Given the description of an element on the screen output the (x, y) to click on. 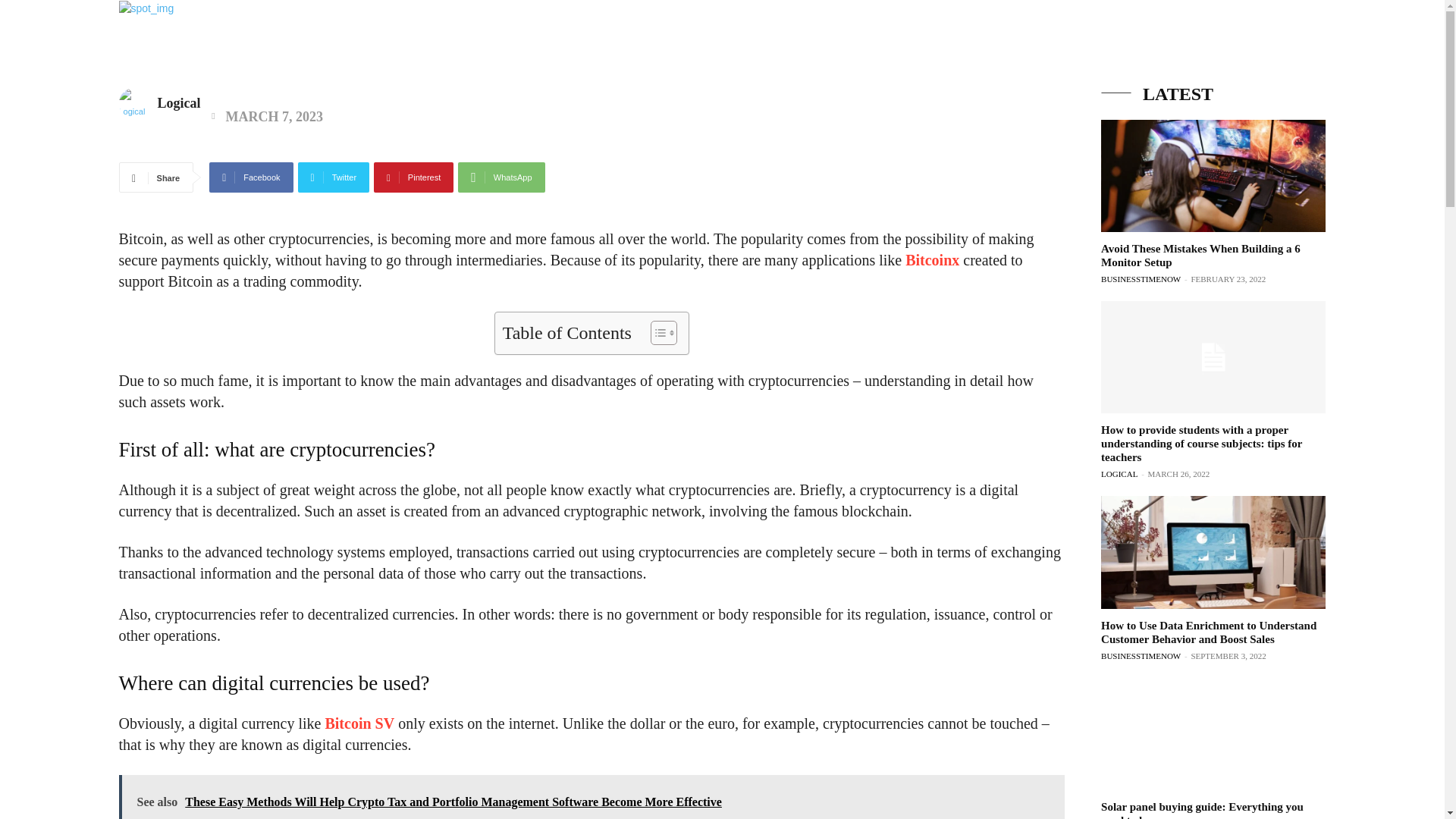
Entertainment (879, 40)
Facebook (1353, 58)
RSS (1408, 58)
Technology (973, 40)
Net worth (789, 40)
Businesstimenow (107, 36)
Home Decor (1244, 40)
Linkedin (1380, 58)
Law (1175, 40)
Lifestyle (1051, 40)
